Given the description of an element on the screen output the (x, y) to click on. 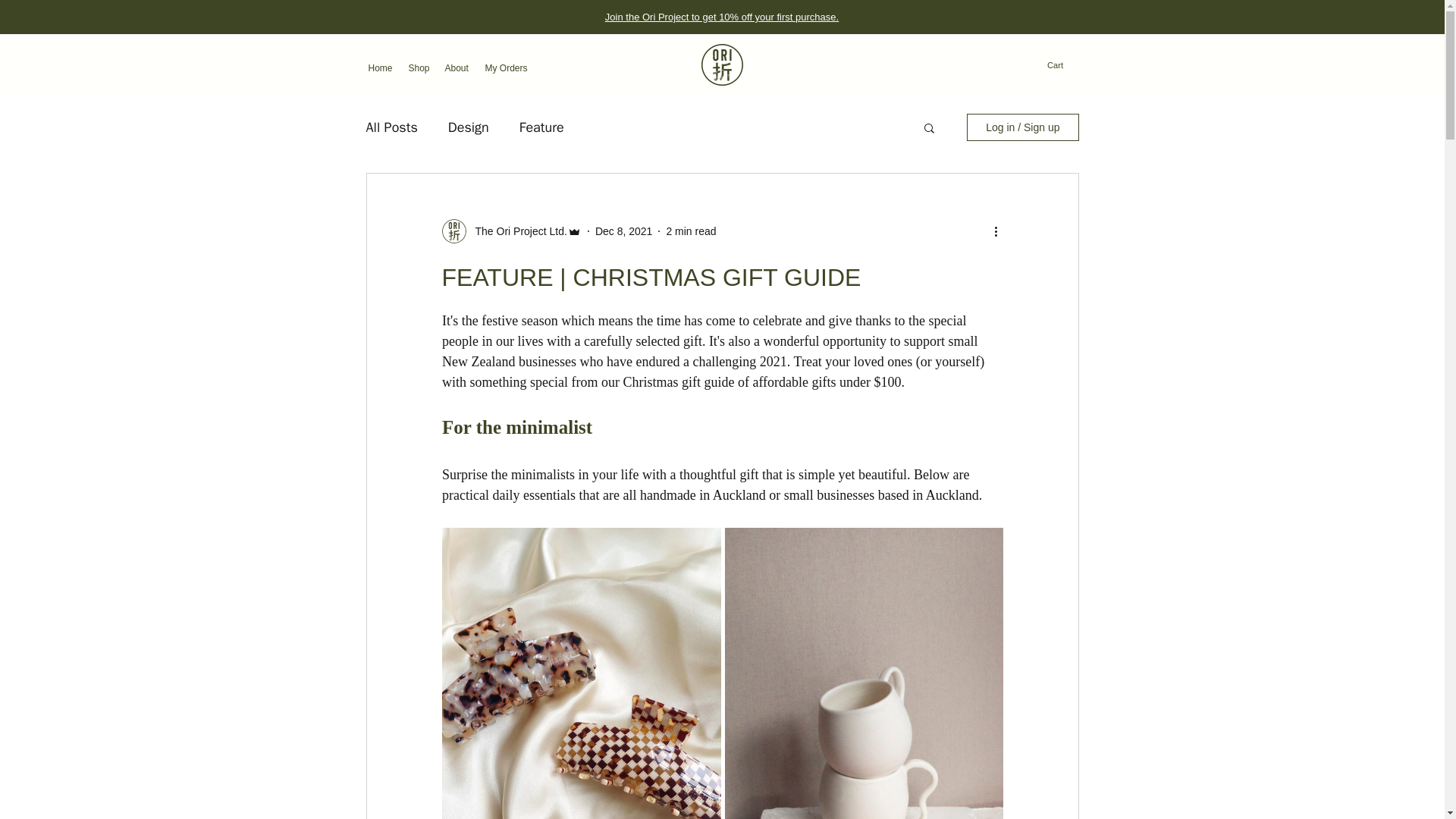
About (456, 67)
Dec 8, 2021 (623, 230)
Cart (1061, 65)
Cart (1061, 65)
Design (468, 126)
2 min read (690, 230)
All Posts (390, 126)
Feature (541, 126)
Home (381, 67)
The Ori Project Ltd. (515, 230)
Shop (418, 67)
My Orders (506, 67)
